Given the description of an element on the screen output the (x, y) to click on. 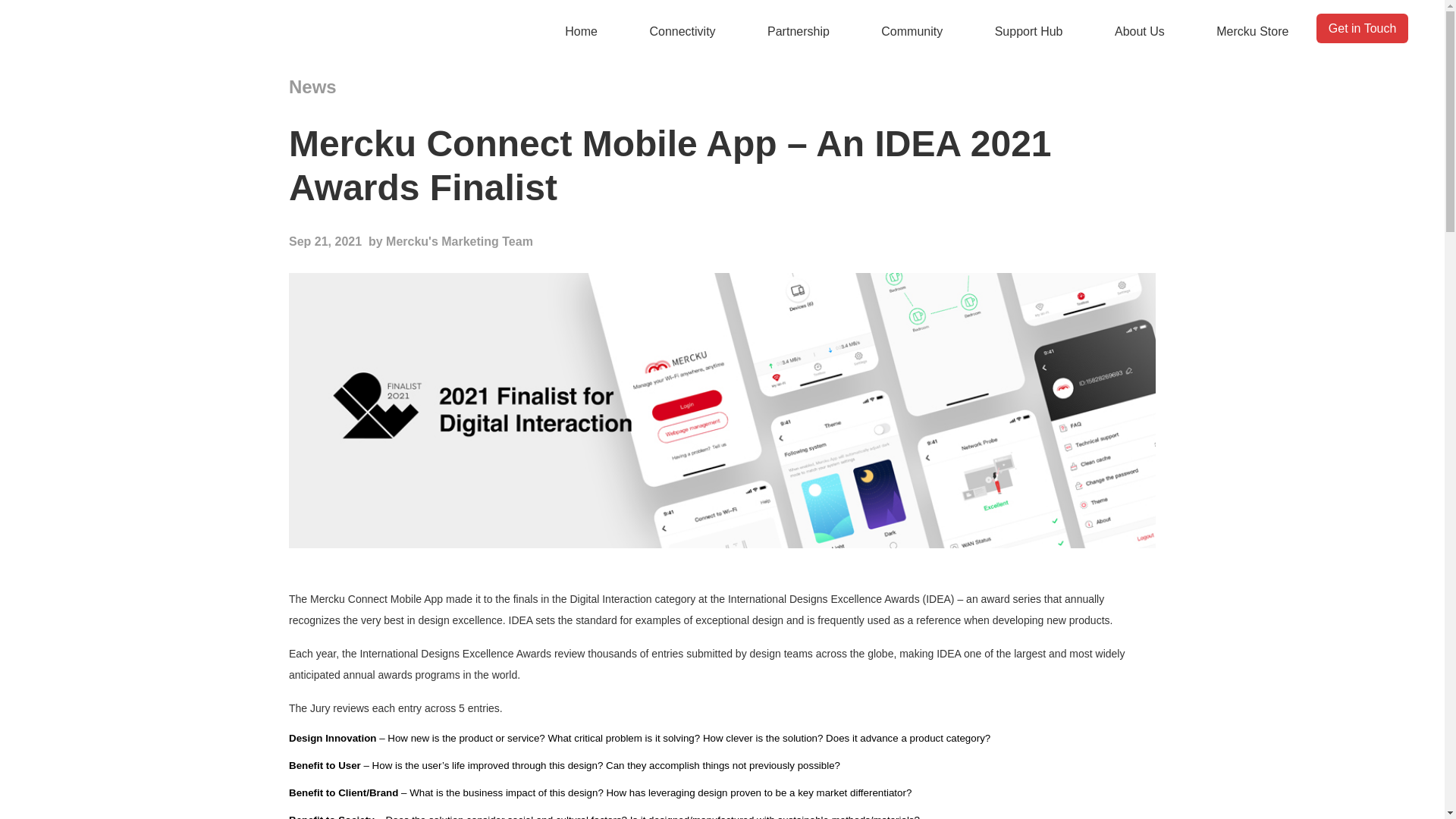
Connectivity (681, 31)
Home (580, 31)
Mercku Store  (1253, 31)
Partnership (798, 31)
About Us (1139, 31)
Community (911, 31)
Support Hub (1028, 31)
Get in Touch (1362, 28)
